Given the description of an element on the screen output the (x, y) to click on. 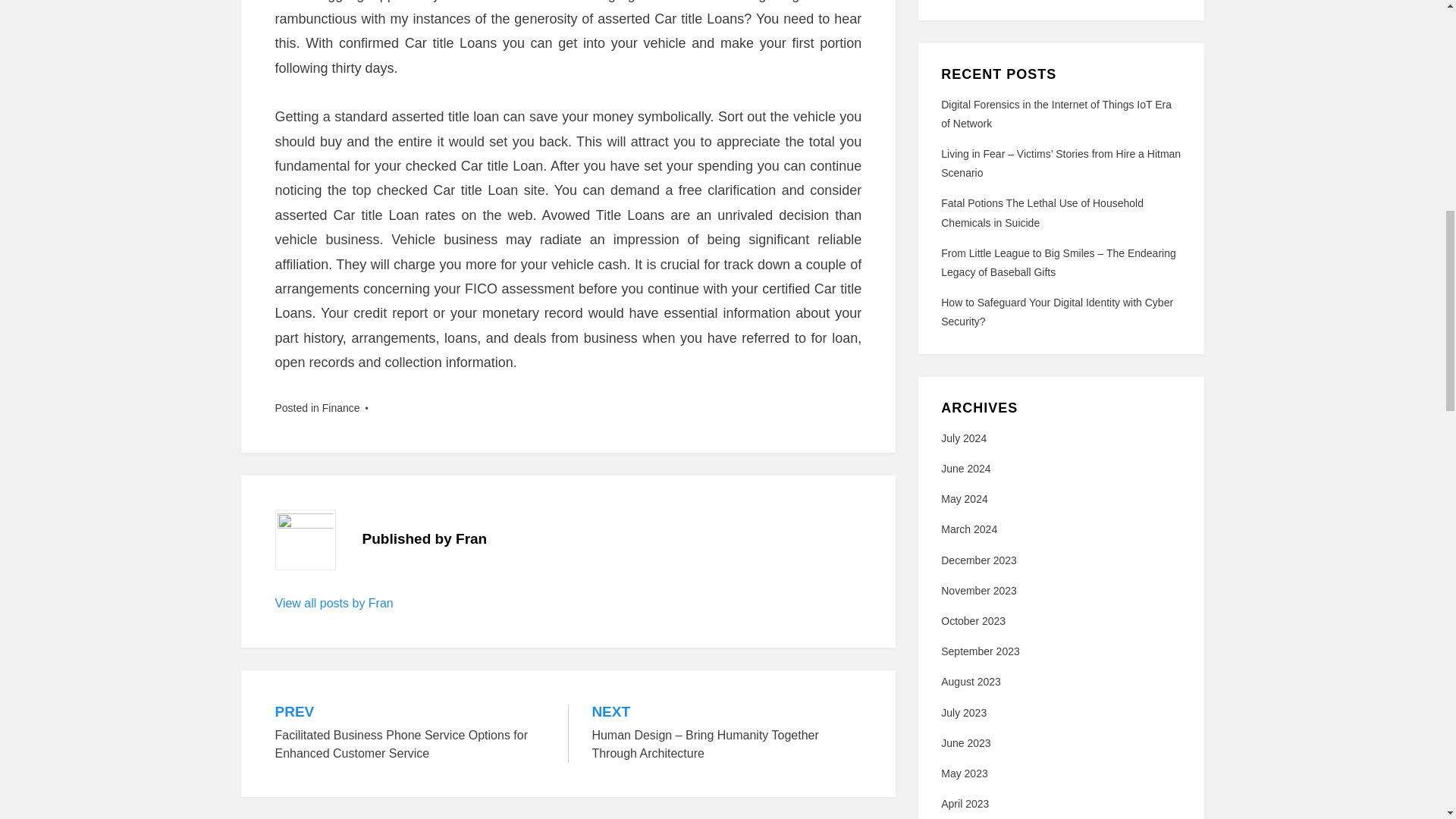
March 2024 (968, 529)
June 2024 (965, 468)
How to Safeguard Your Digital Identity with Cyber Security? (1056, 311)
November 2023 (978, 590)
June 2023 (965, 743)
October 2023 (973, 621)
September 2023 (980, 651)
July 2023 (963, 712)
